Given the description of an element on the screen output the (x, y) to click on. 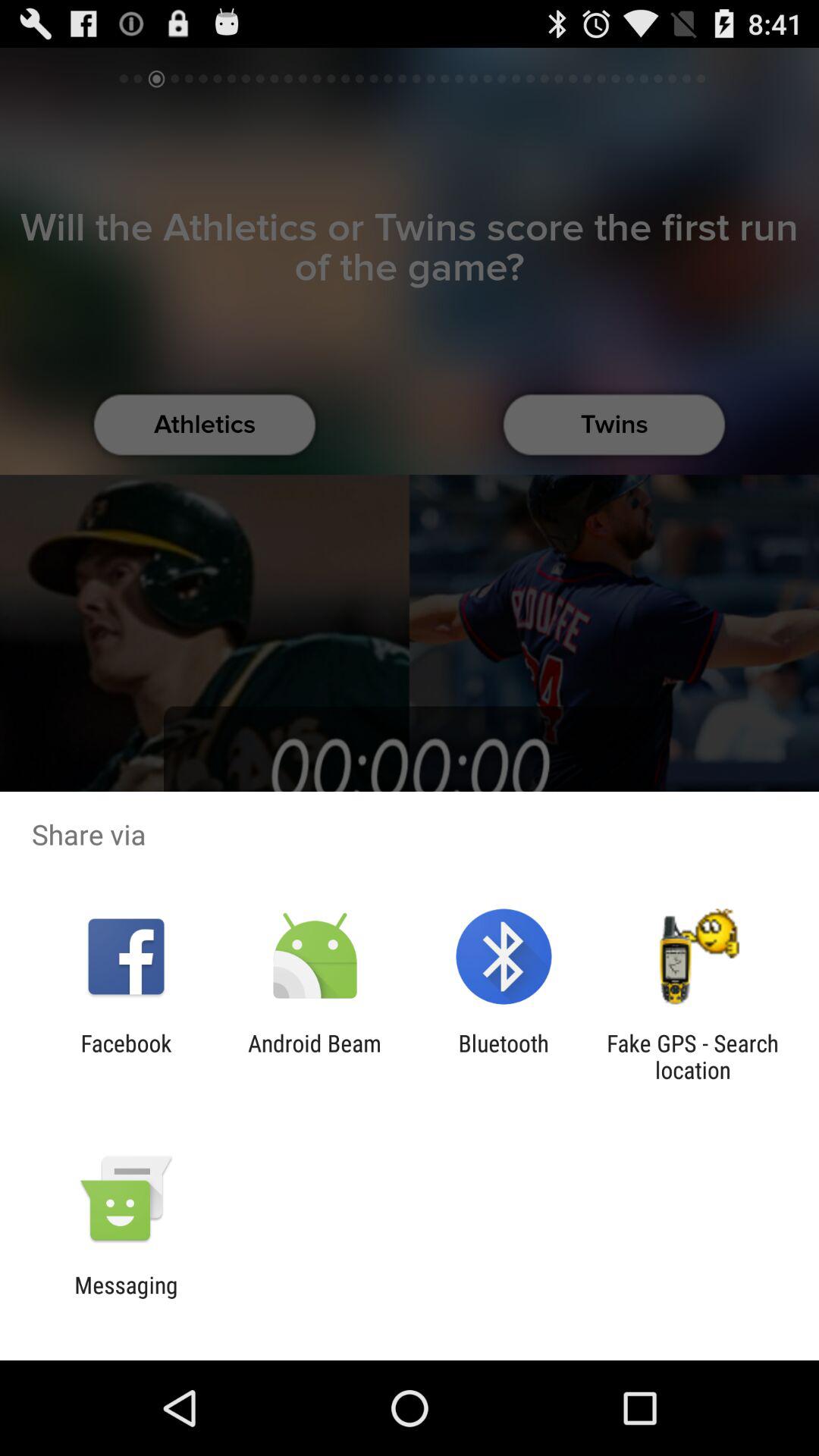
flip to messaging (126, 1298)
